Given the description of an element on the screen output the (x, y) to click on. 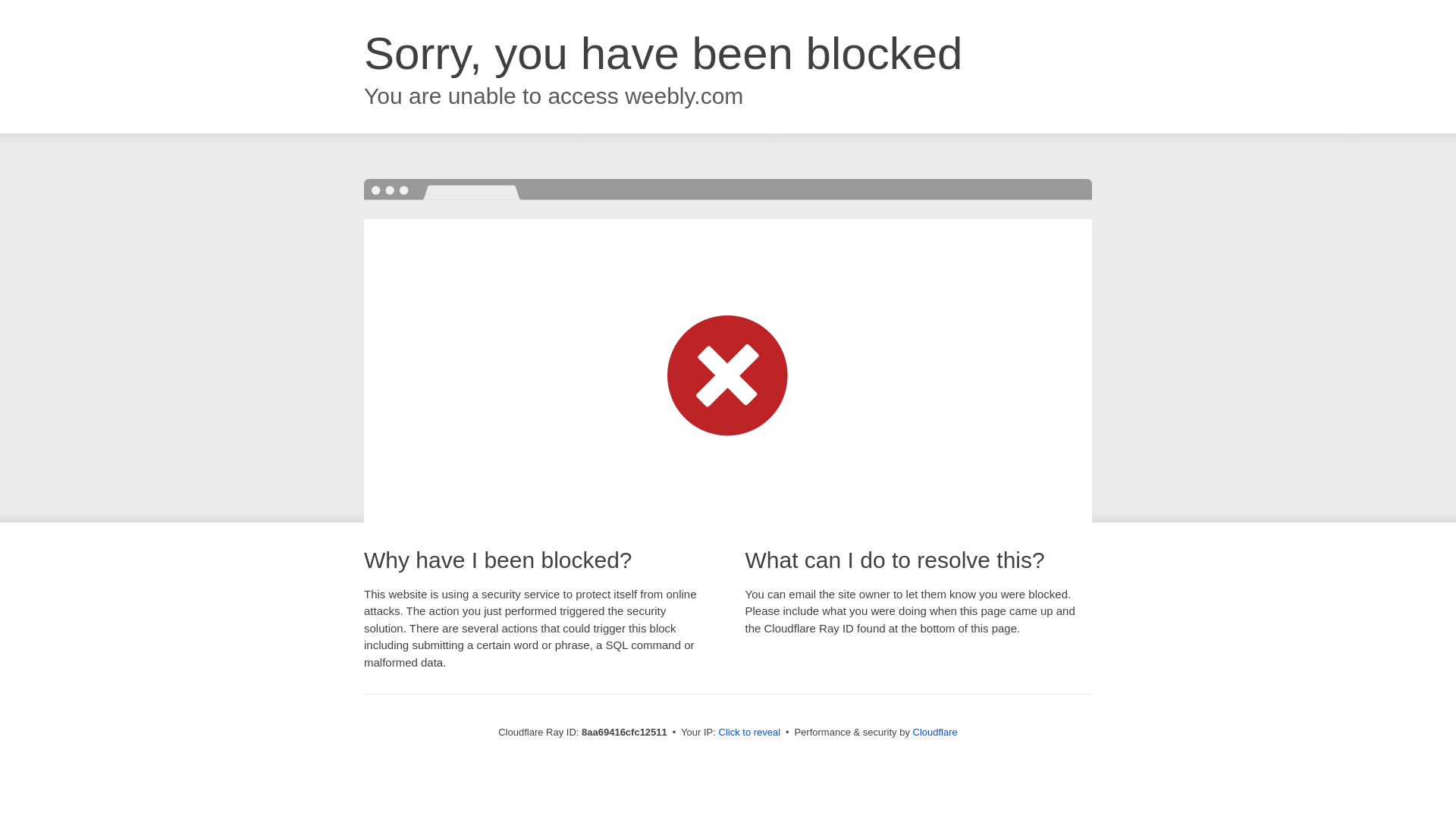
Cloudflare (935, 731)
Click to reveal (749, 732)
